Given the description of an element on the screen output the (x, y) to click on. 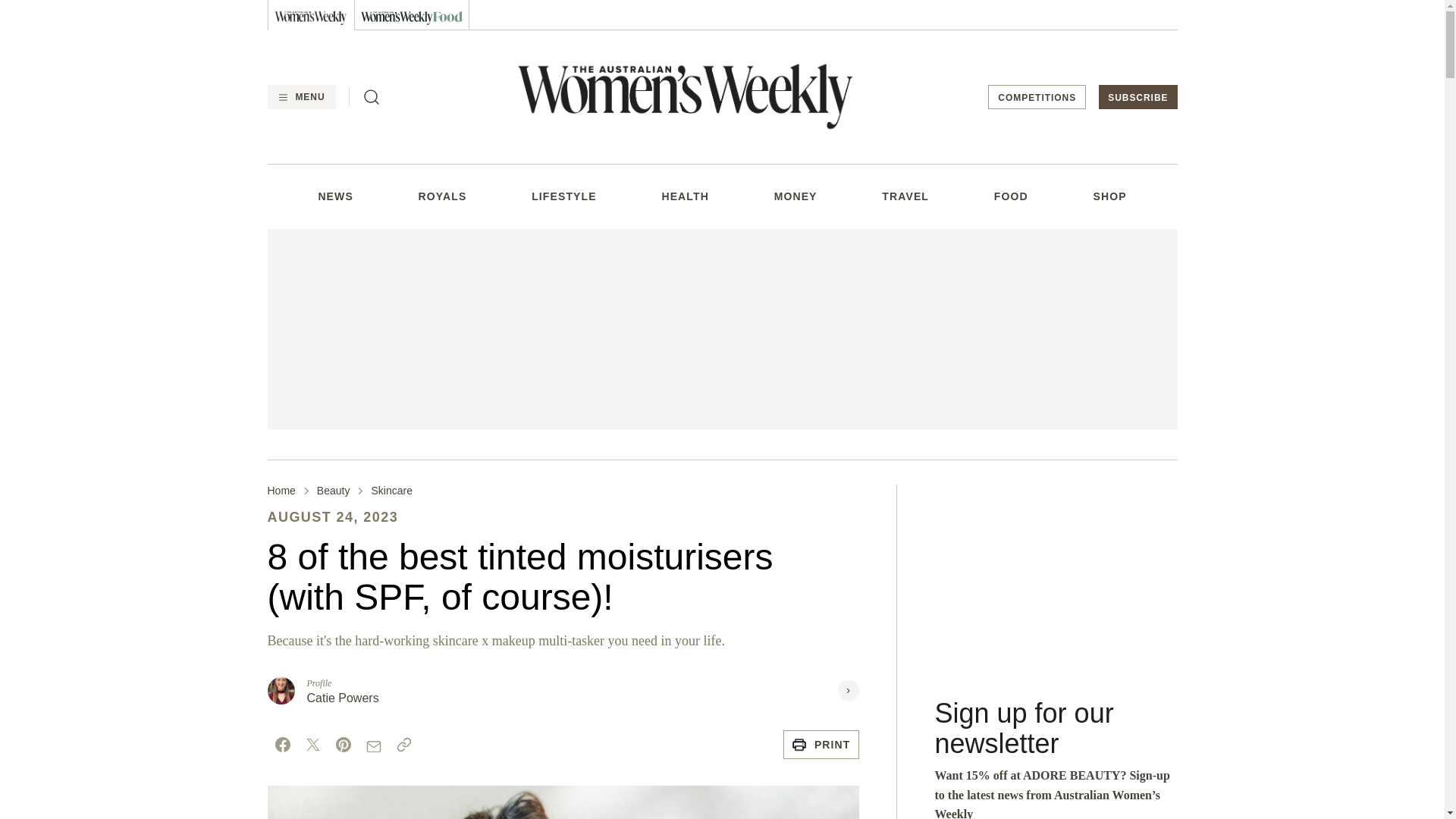
MONEY (795, 196)
LIFESTYLE (563, 196)
NEWS (334, 196)
MENU (300, 96)
SHOP (1109, 196)
COMPETITIONS (1037, 96)
ROYALS (443, 196)
SUBSCRIBE (1137, 96)
HEALTH (684, 196)
TRAVEL (905, 196)
